Given the description of an element on the screen output the (x, y) to click on. 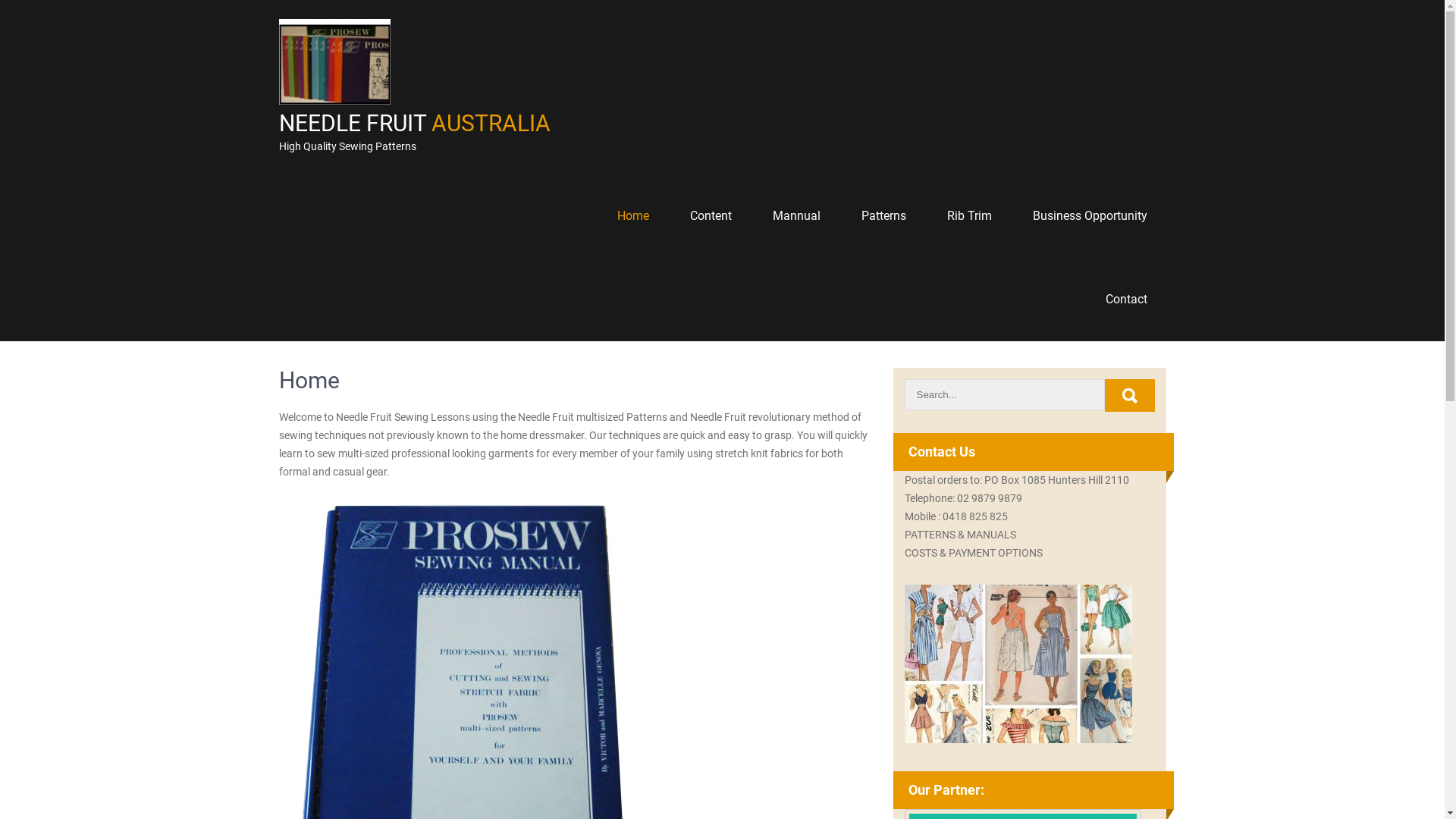
Search Element type: text (1129, 395)
Patterns Element type: text (882, 215)
Mannual Element type: text (796, 215)
Business Opportunity Element type: text (1089, 215)
NEEDLE FRUIT AUSTRALIA Element type: text (414, 122)
Home Element type: text (632, 215)
Contact Element type: text (1125, 299)
Rib Trim Element type: text (969, 215)
Content Element type: text (709, 215)
